Given the description of an element on the screen output the (x, y) to click on. 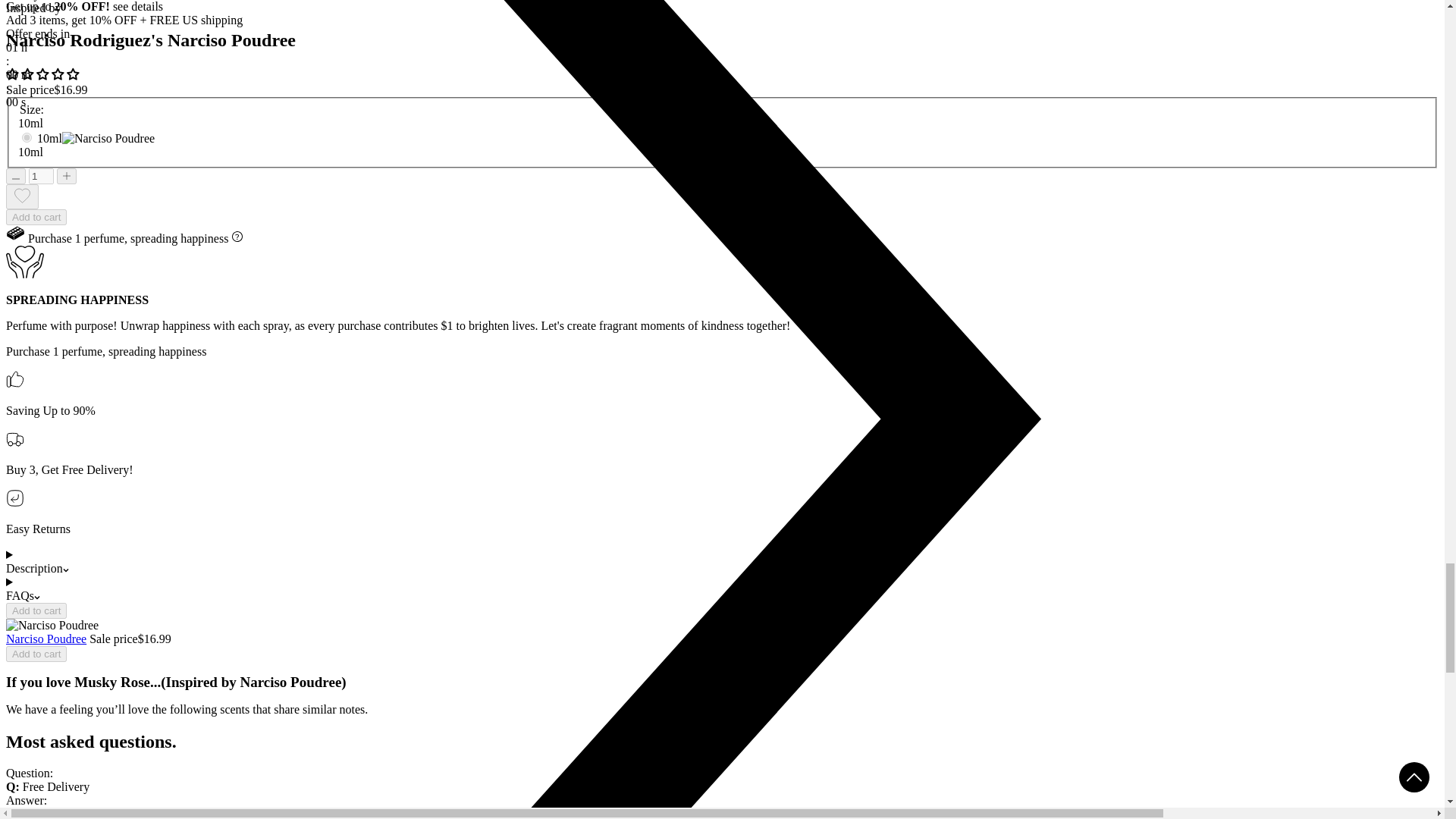
10ml (26, 137)
1 (41, 176)
